Given the description of an element on the screen output the (x, y) to click on. 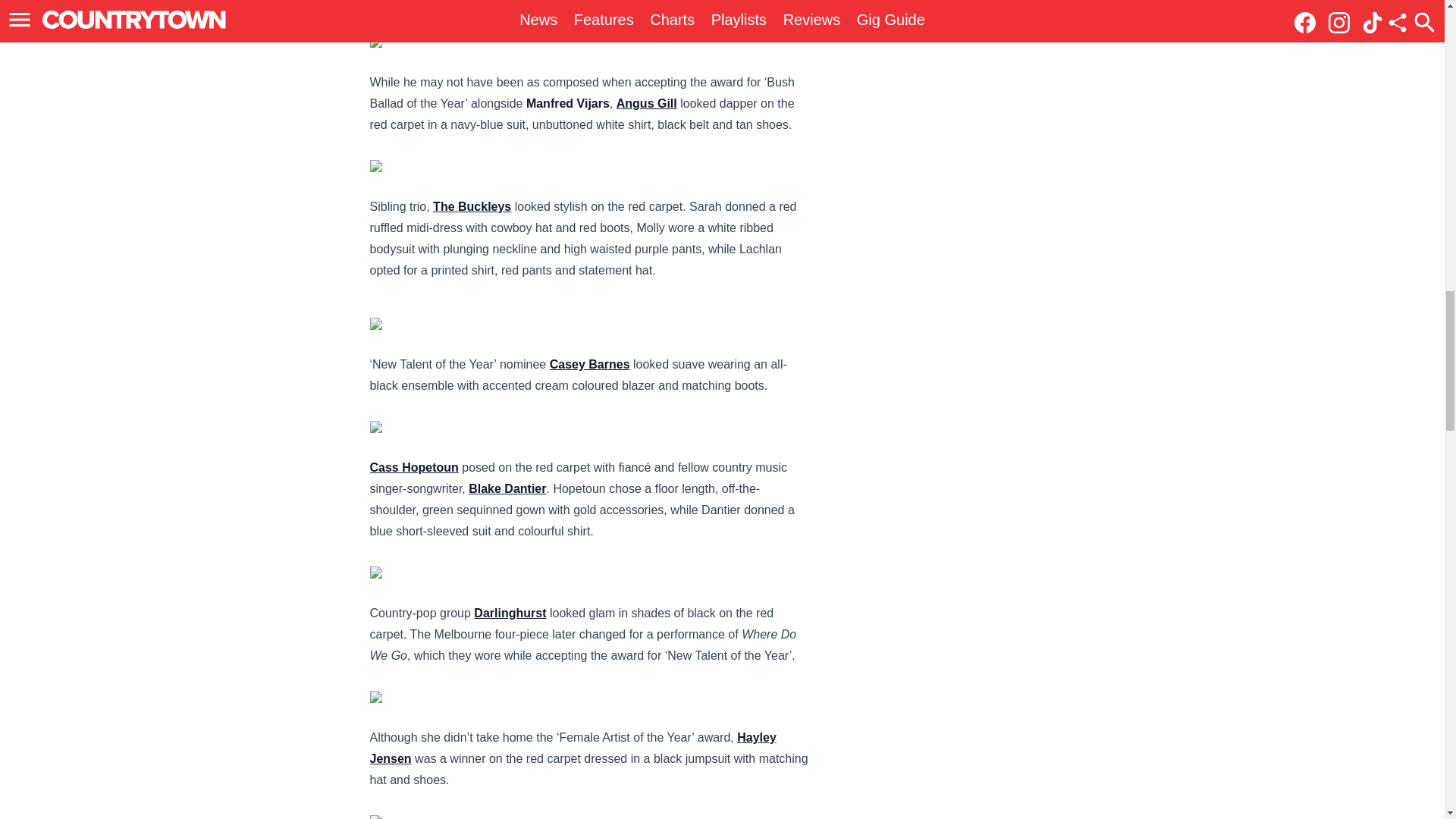
Darlinghurst (510, 612)
Cass Hopetoun (413, 467)
The Buckleys (471, 205)
Hayley Jensen (572, 747)
Angus Gill (646, 103)
Blake Dantier (507, 488)
Casey Barnes (590, 364)
